Given the description of an element on the screen output the (x, y) to click on. 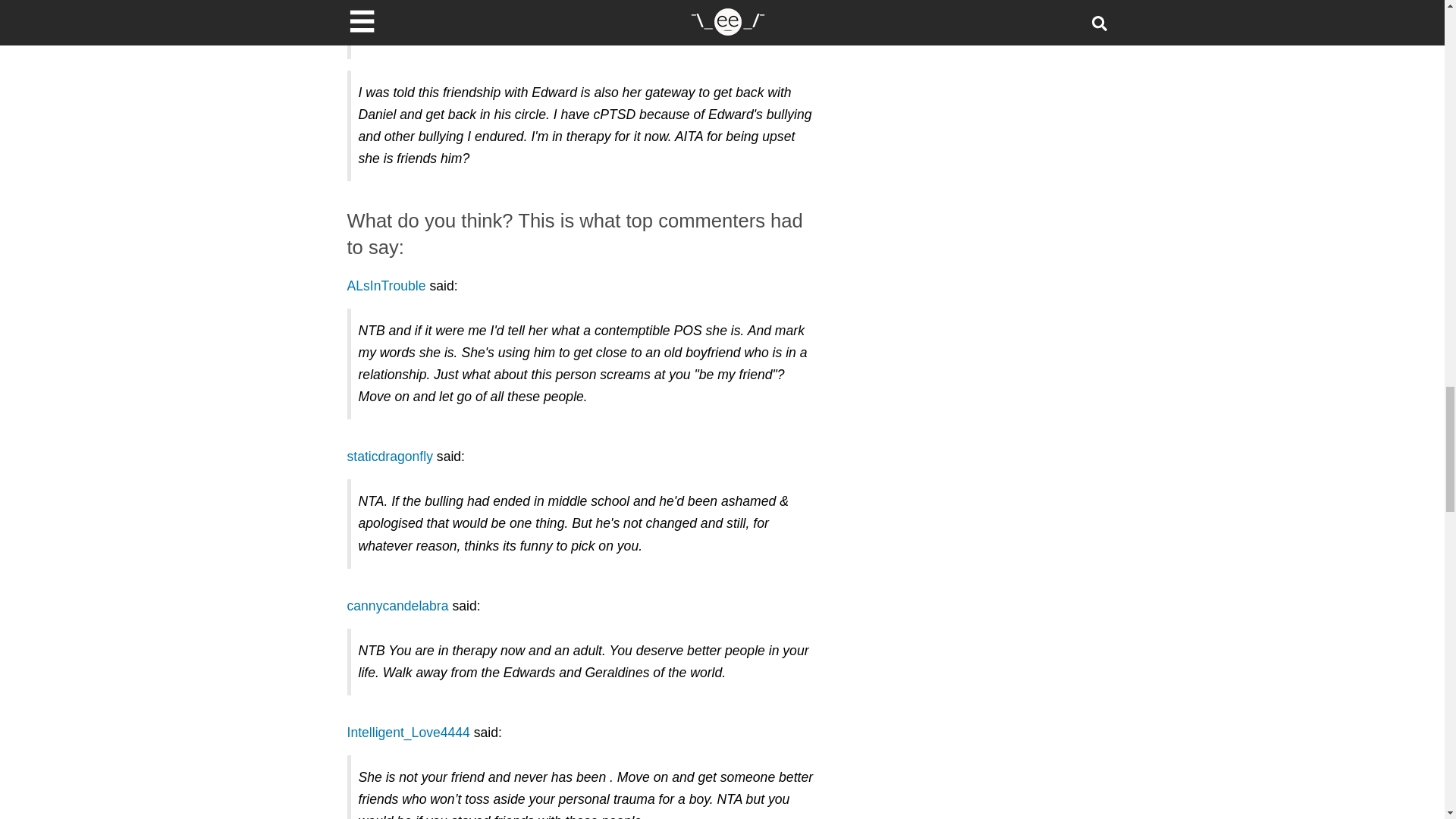
ALsInTrouble (386, 285)
staticdragonfly (389, 456)
cannycandelabra (397, 605)
